Given the description of an element on the screen output the (x, y) to click on. 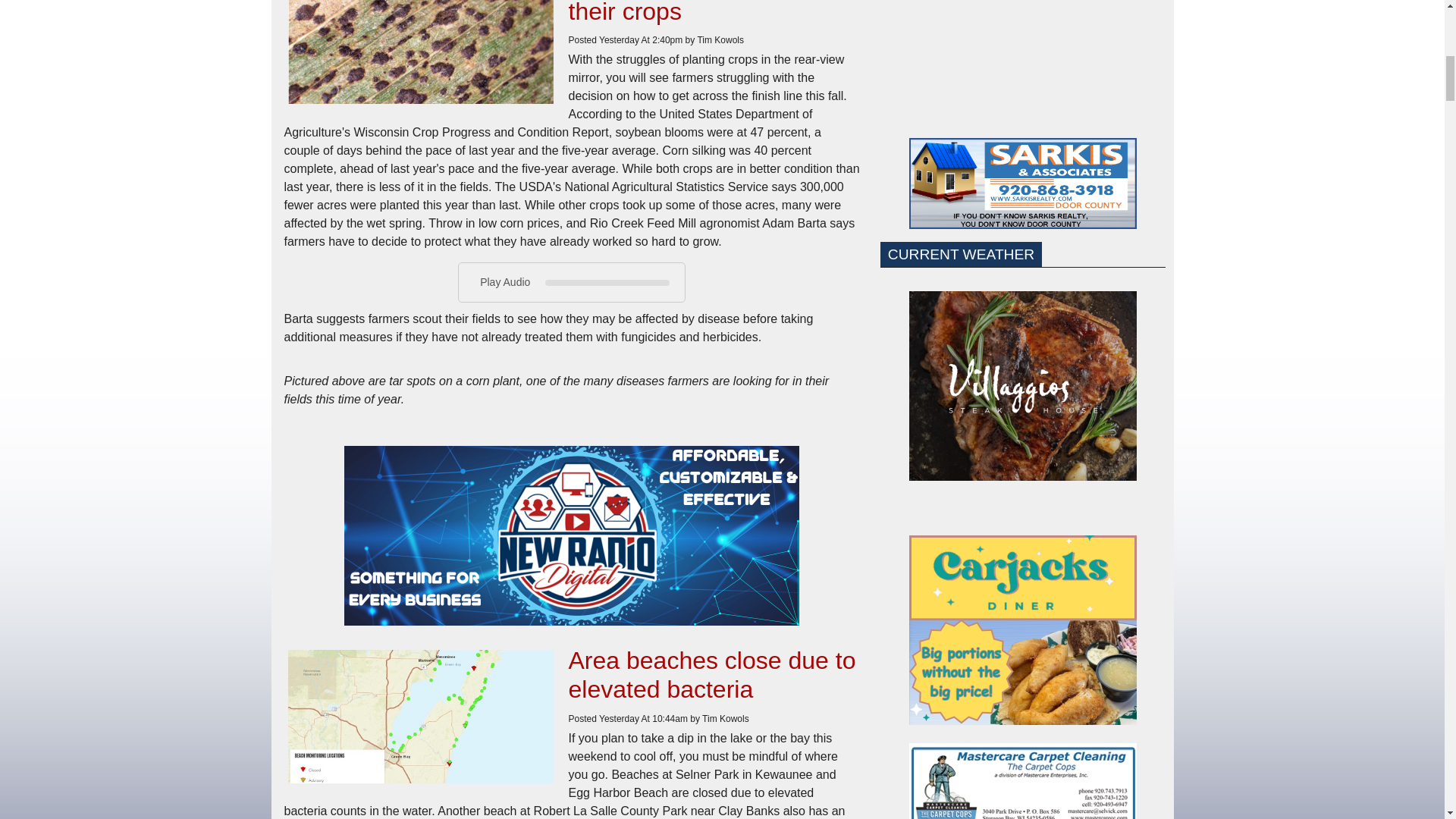
Advertisement (1022, 59)
